Given the description of an element on the screen output the (x, y) to click on. 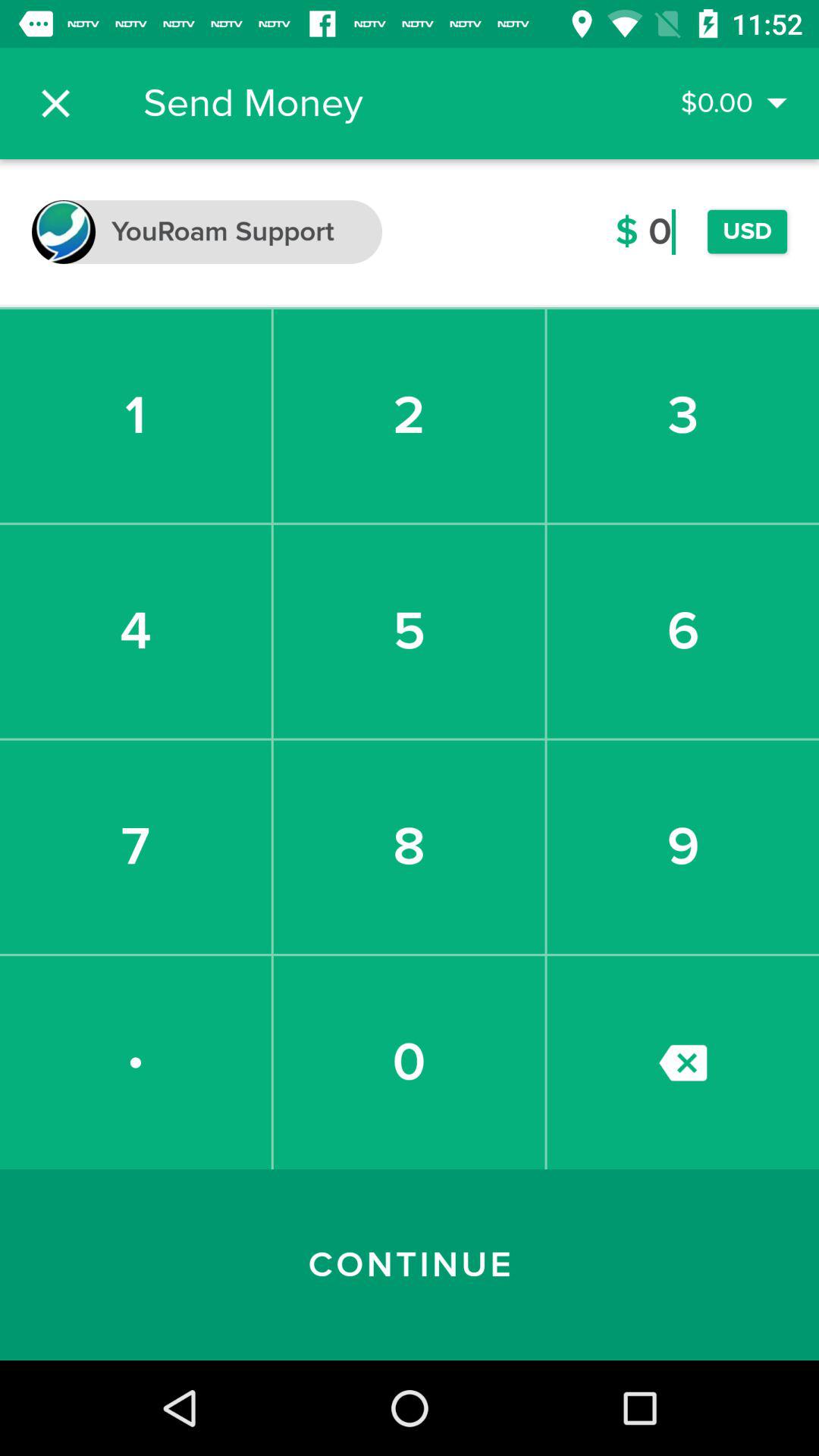
tap 3 item (683, 415)
